Given the description of an element on the screen output the (x, y) to click on. 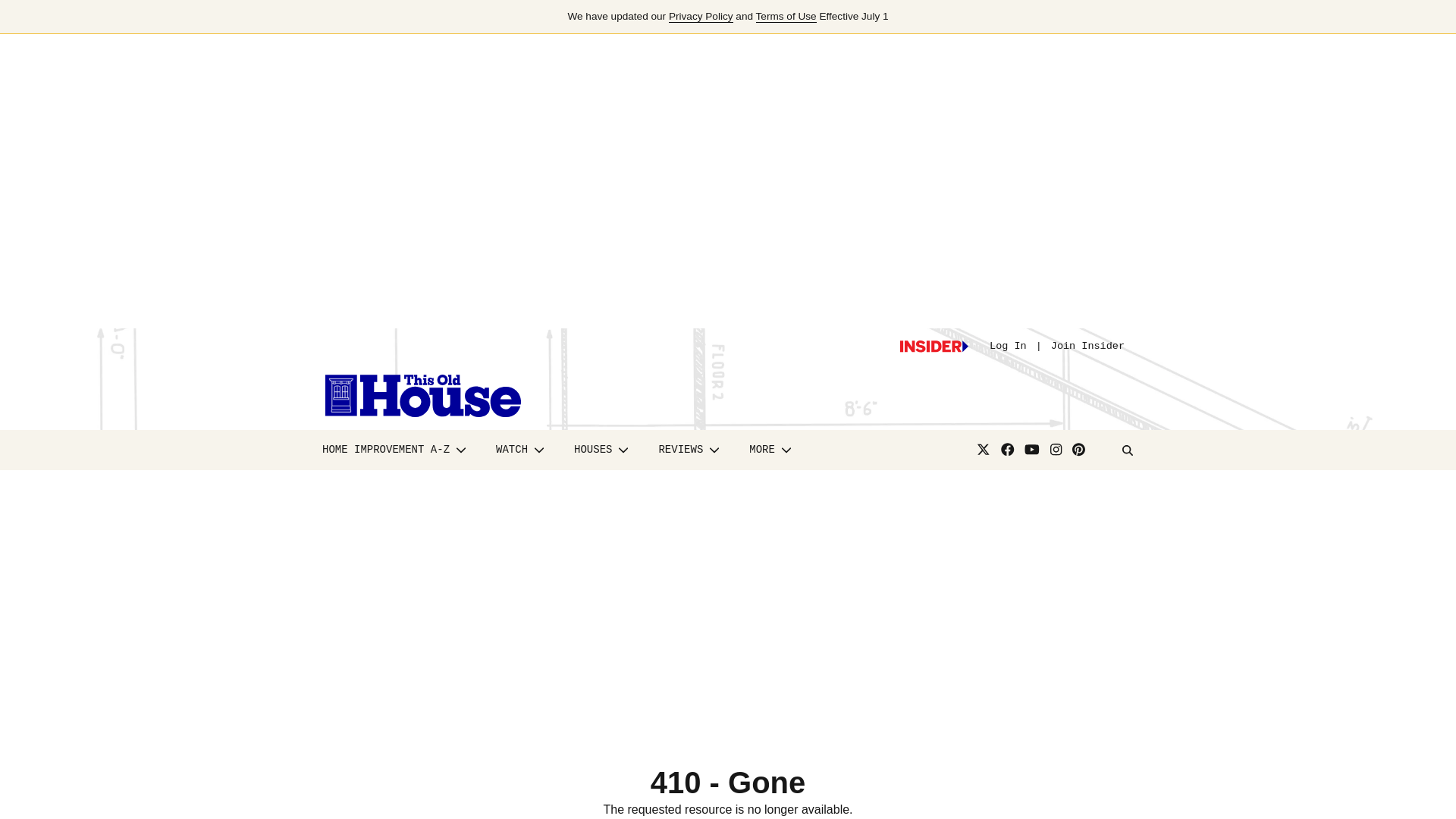
Terms of Use (785, 16)
Join Insider (1087, 346)
Log in or sign up (933, 346)
Privacy Policy (700, 16)
Log In (1008, 346)
